Given the description of an element on the screen output the (x, y) to click on. 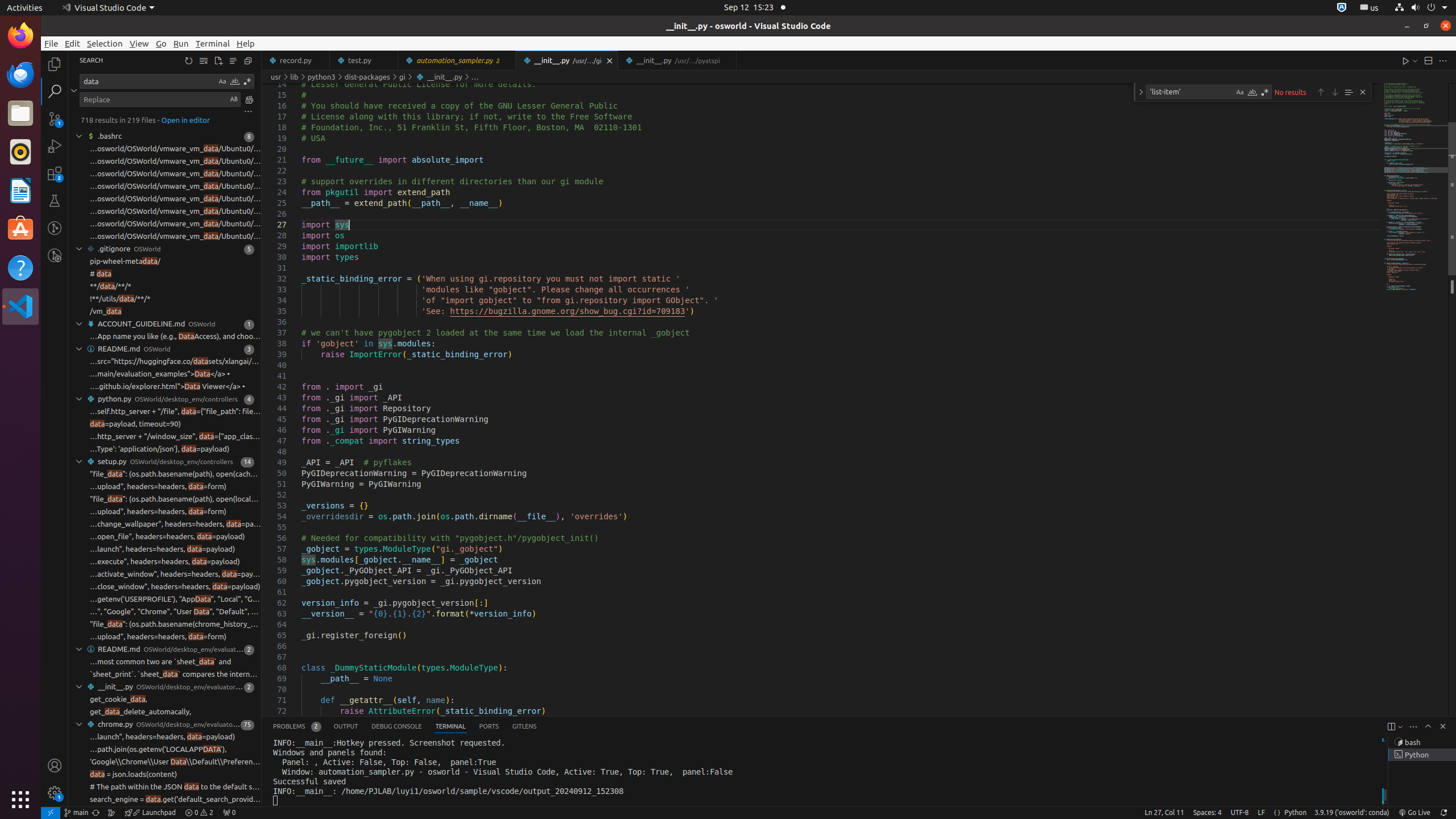
1 matches in file ACCOUNT_GUIDELINE.md of folder OSWorld, Search result Element type: tree-item (164, 323)
Output (Ctrl+K Ctrl+H) Element type: page-tab (345, 726)
Warnings: 2 Element type: push-button (199, 812)
' """import os; print(os.path.join(os.getenv('USERPROFILE'), "AppData", "Local", "Google", "Chrome", "User Data", "Default", "History"))""")[' at column 122 found Data Element type: tree-item (164, 611)
Run and Debug (Ctrl+Shift+D) Element type: page-tab (54, 145)
